Given the description of an element on the screen output the (x, y) to click on. 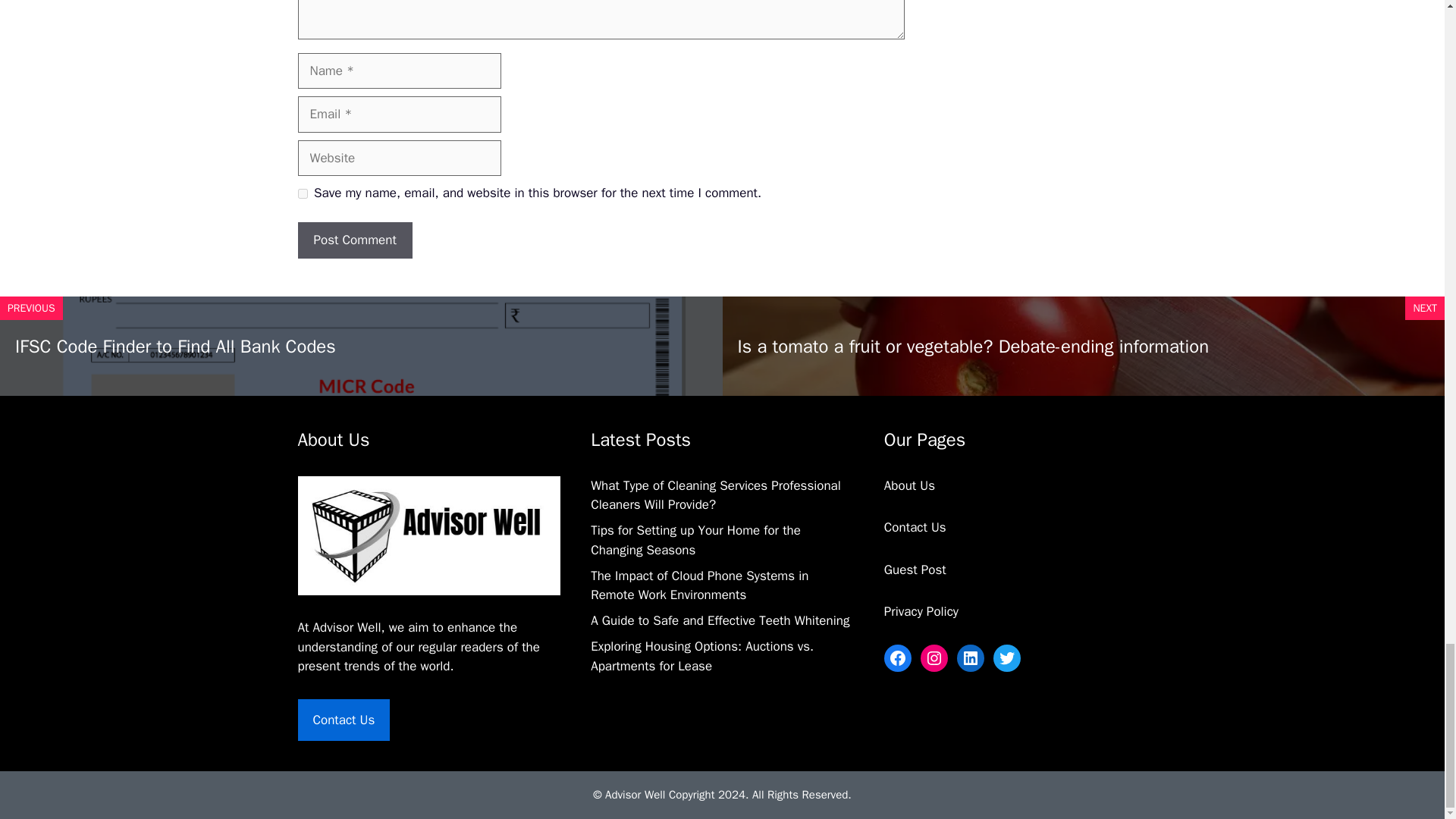
Post Comment (354, 239)
Advisor Well (347, 627)
Is a tomato a fruit or vegetable? Debate-ending information (972, 345)
Contact Us (343, 720)
Post Comment (354, 239)
IFSC Code Finder to Find All Bank Codes (175, 345)
yes (302, 194)
